Given the description of an element on the screen output the (x, y) to click on. 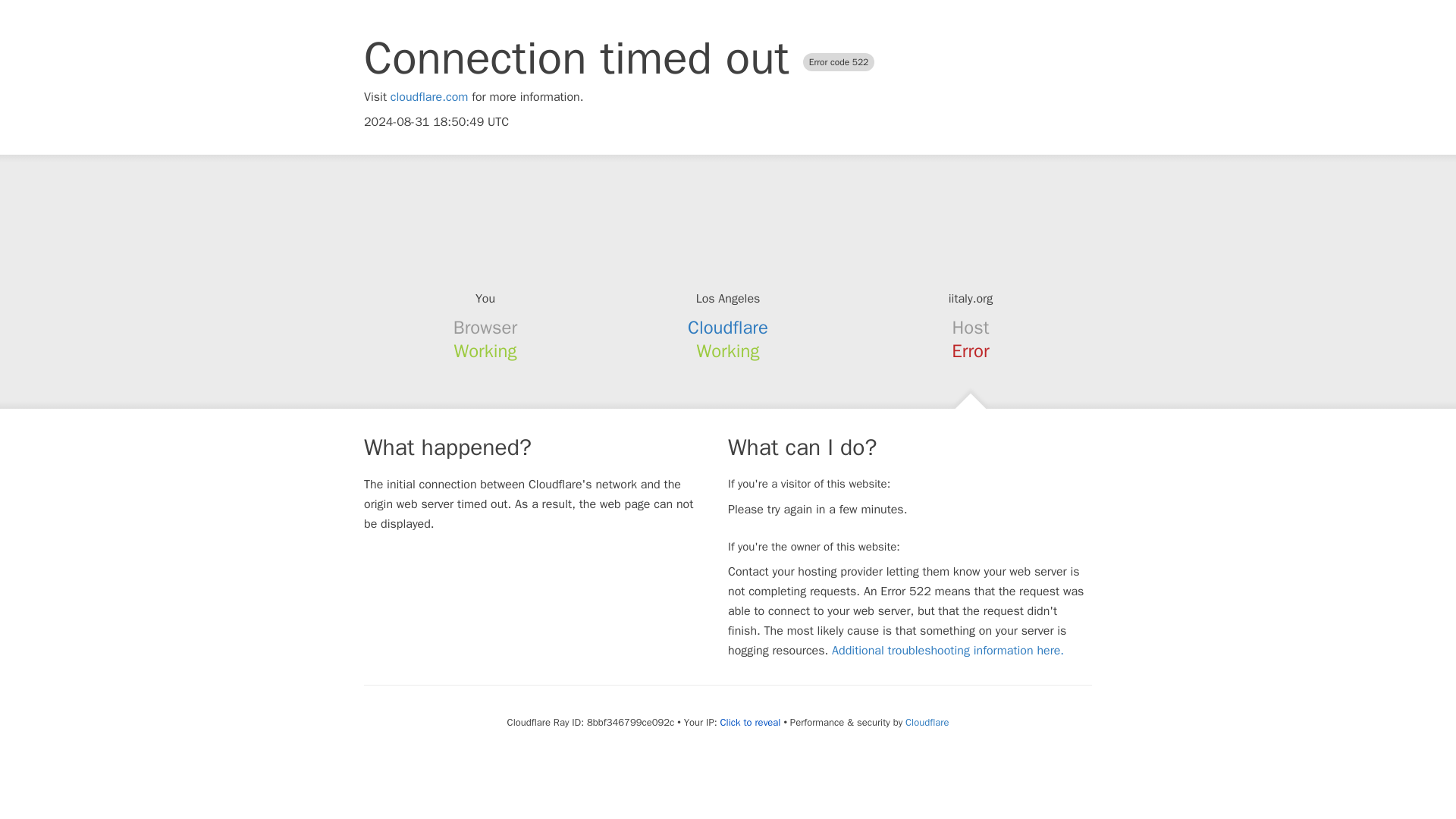
cloudflare.com (429, 96)
Cloudflare (727, 327)
Click to reveal (750, 722)
Cloudflare (927, 721)
Additional troubleshooting information here. (947, 650)
